Given the description of an element on the screen output the (x, y) to click on. 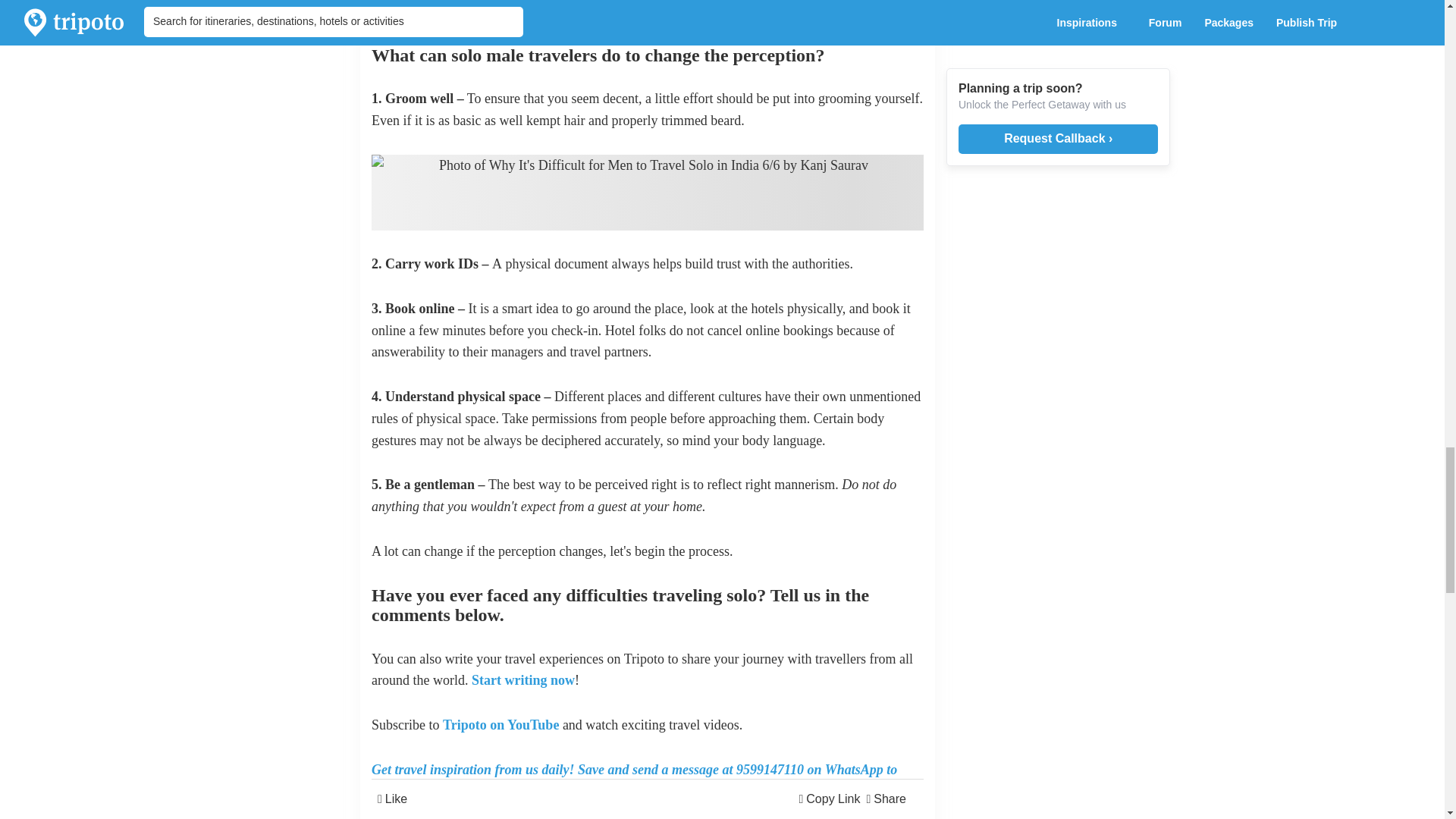
Start writing now (523, 679)
Tripoto on YouTube (500, 724)
